Given the description of an element on the screen output the (x, y) to click on. 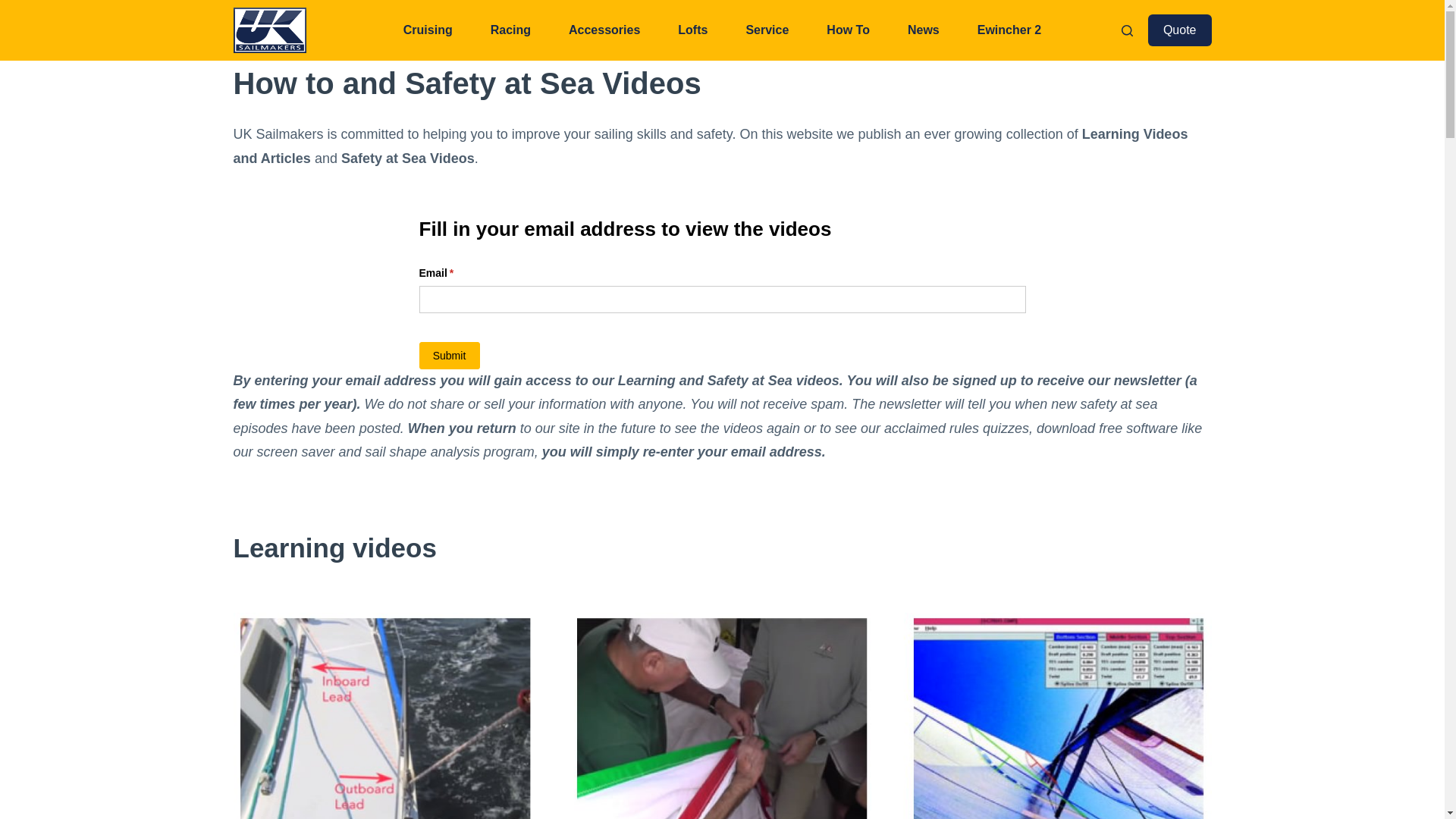
Service (767, 30)
Racing (510, 30)
Lofts (692, 30)
Skip to content (15, 7)
Cruising (427, 30)
Quote (1179, 29)
Ewincher 2 (1008, 30)
How To (848, 30)
Accessories (604, 30)
Submit (449, 355)
News (923, 30)
